Given the description of an element on the screen output the (x, y) to click on. 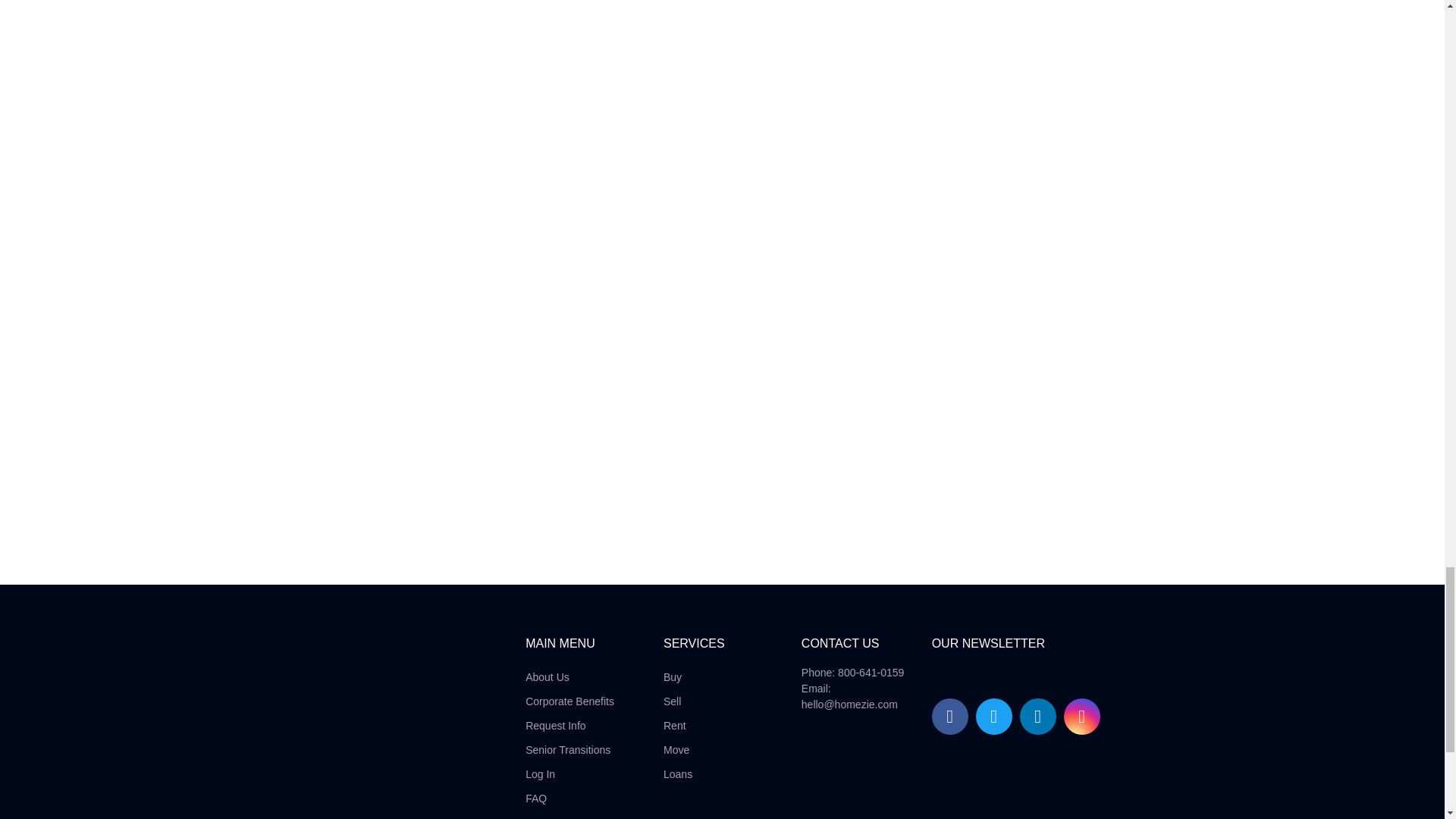
Contact Us (569, 816)
Senior Transitions (569, 749)
Sell (678, 701)
Corporate Benefits (569, 701)
About Us (569, 676)
Buy (678, 676)
Request Info (569, 725)
Log In (569, 774)
FAQ (569, 798)
